Given the description of an element on the screen output the (x, y) to click on. 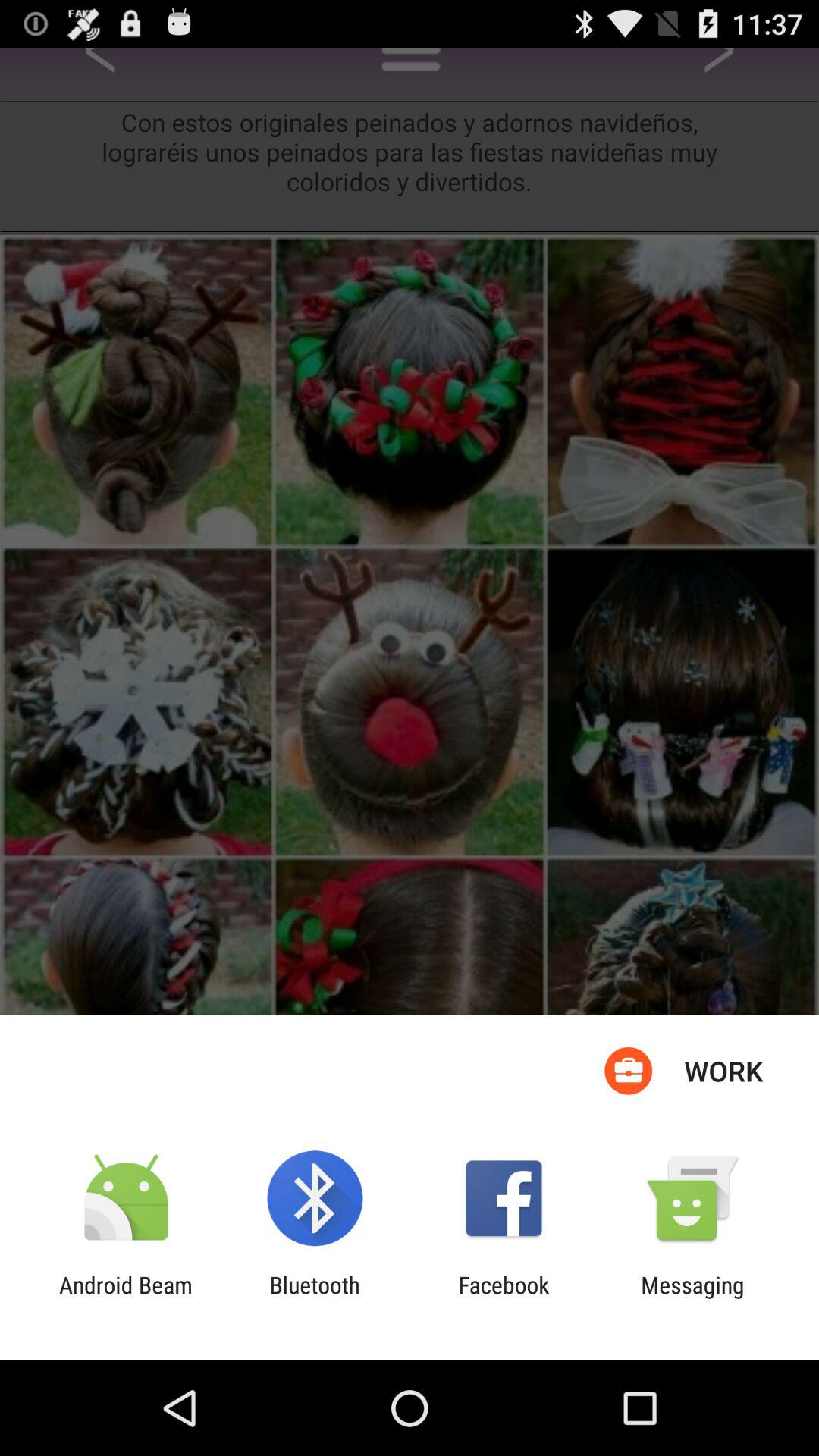
select the app next to facebook (692, 1298)
